Given the description of an element on the screen output the (x, y) to click on. 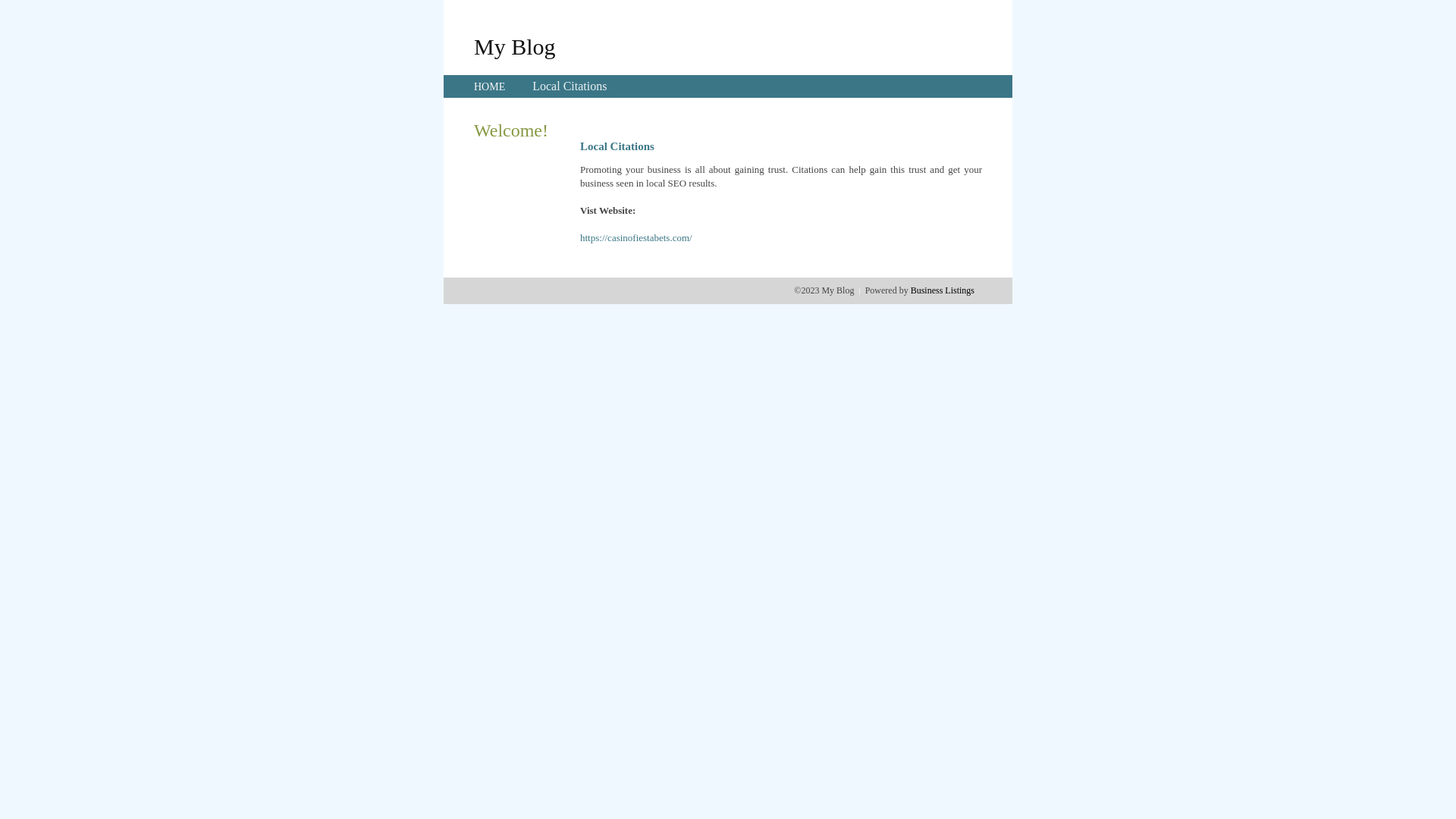
My Blog Element type: text (514, 46)
HOME Element type: text (489, 86)
Business Listings Element type: text (942, 290)
https://casinofiestabets.com/ Element type: text (636, 237)
Local Citations Element type: text (569, 85)
